Given the description of an element on the screen output the (x, y) to click on. 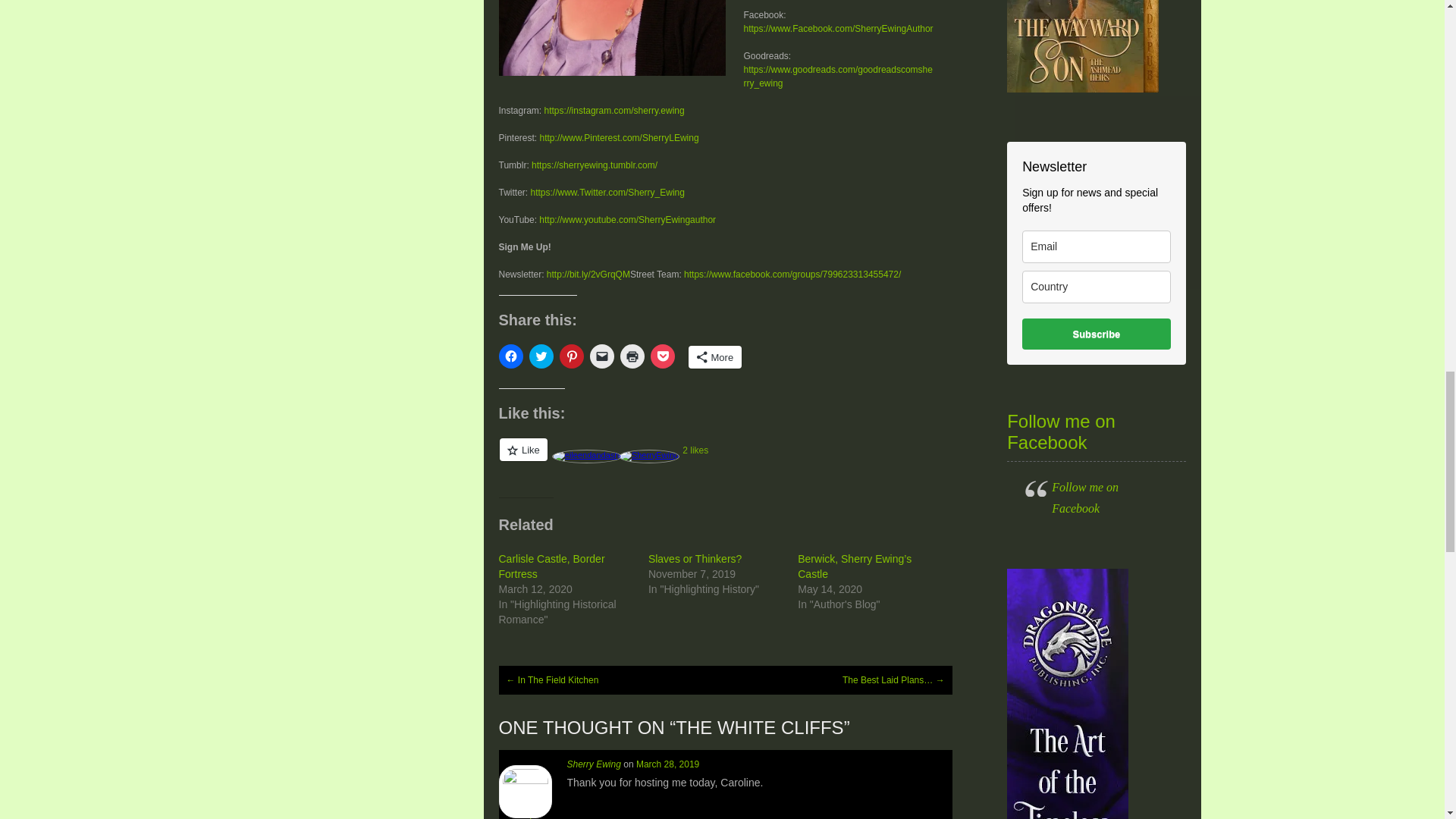
Click to share on Facebook (510, 355)
Click to share on Pocket (662, 355)
More (715, 356)
Click to print (632, 355)
Click to share on Twitter (541, 355)
Click to email a link to a friend (601, 355)
Click to share on Pinterest (571, 355)
Carlisle Castle, Border Fortress (552, 565)
Slaves or Thinkers? (694, 558)
Romance (612, 38)
